Given the description of an element on the screen output the (x, y) to click on. 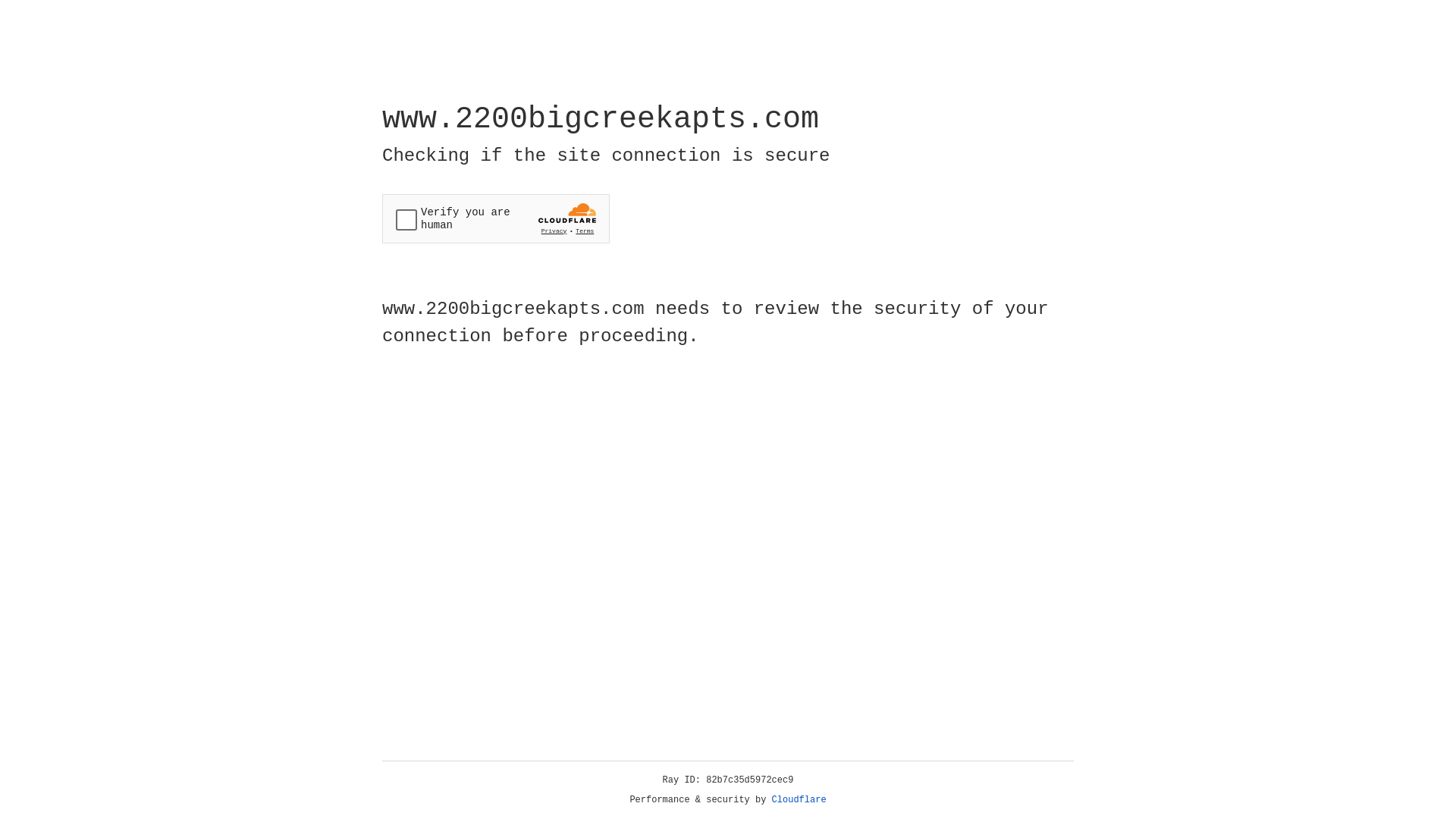
Cloudflare Element type: text (798, 799)
Widget containing a Cloudflare security challenge Element type: hover (495, 218)
